Given the description of an element on the screen output the (x, y) to click on. 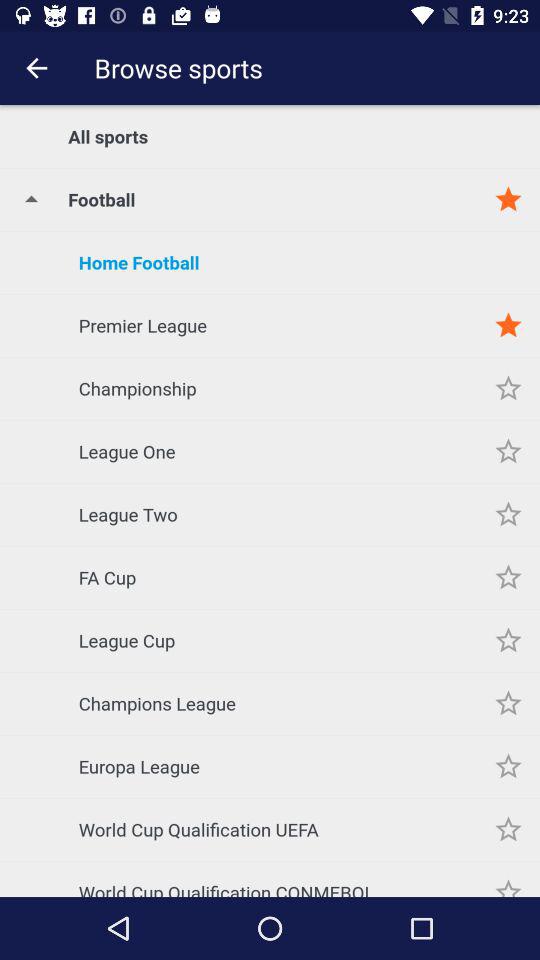
indicates subject preference (508, 829)
